Given the description of an element on the screen output the (x, y) to click on. 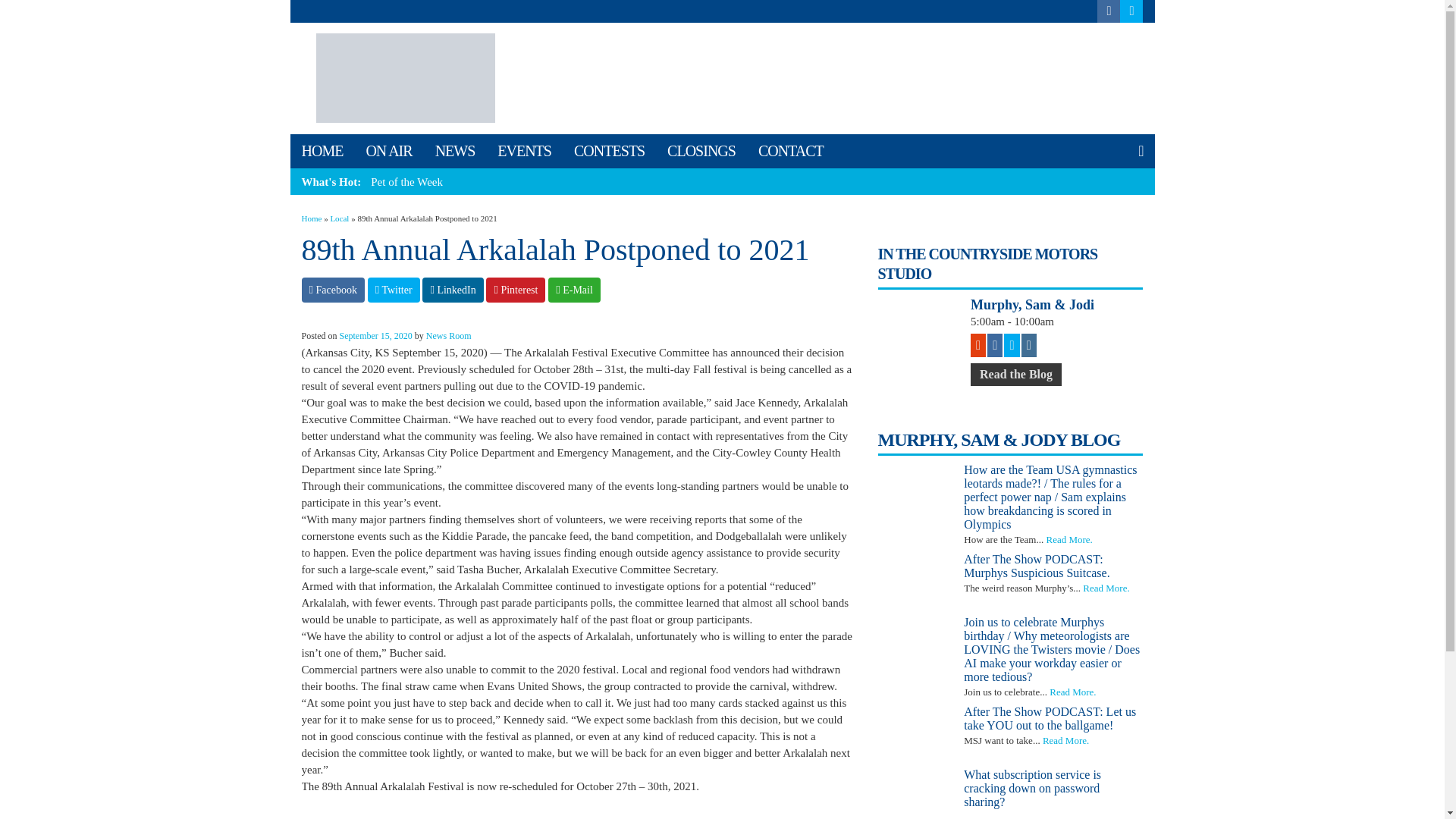
News Room (448, 335)
Share to E-Mail (573, 289)
Share to LinkedIn (452, 289)
Share to Facebook (333, 289)
CLOSINGS (701, 151)
HOME (321, 151)
Share to Pinterest (515, 289)
9:46 am (375, 335)
Local (339, 217)
September 15, 2020 (375, 335)
Pinterest (515, 289)
CONTESTS (609, 151)
EVENTS (524, 151)
NEWS (454, 151)
